Given the description of an element on the screen output the (x, y) to click on. 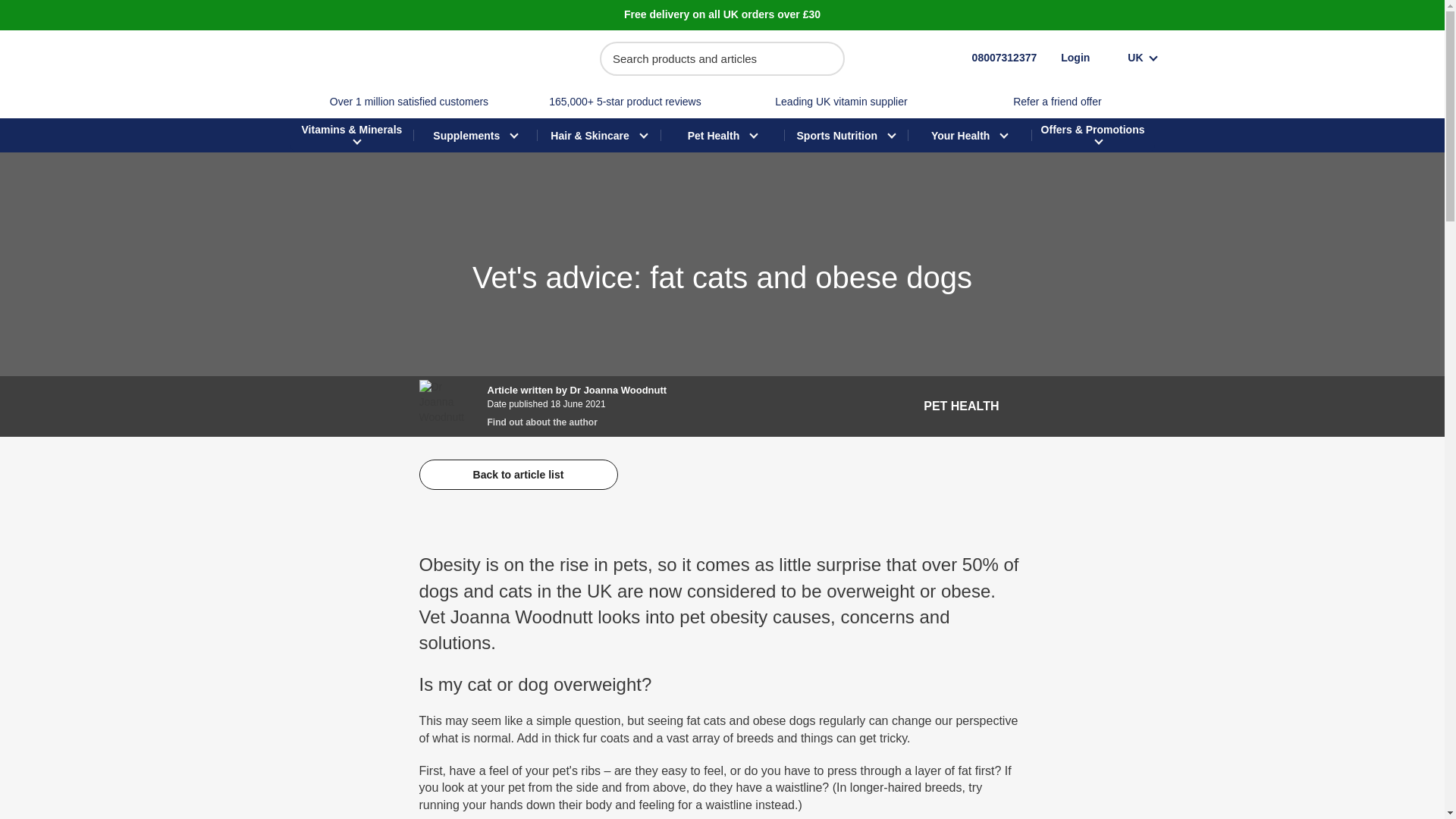
Refer a friend offer (1056, 101)
Refer a friend (1056, 101)
08007312377 (989, 57)
Over 1 million satisfied customers (408, 101)
Over 1 million satisfied customers (408, 101)
Leading UK vitamin supplier (840, 101)
Search products and articles (721, 58)
Login (1075, 57)
Login (1075, 57)
Delivery (722, 14)
